Given the description of an element on the screen output the (x, y) to click on. 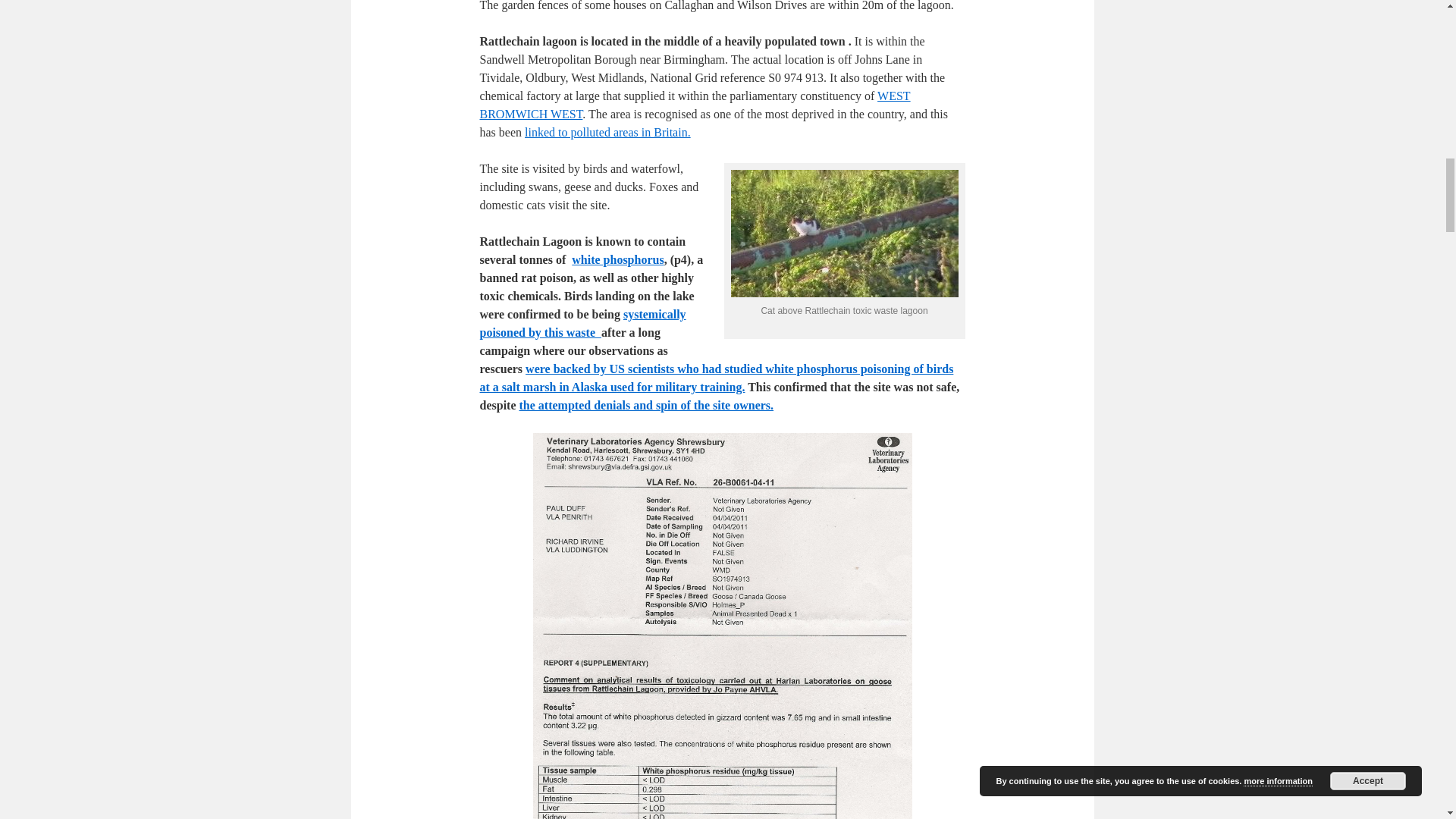
toxic white phosphorus (617, 259)
West Bromwich West (694, 104)
